Given the description of an element on the screen output the (x, y) to click on. 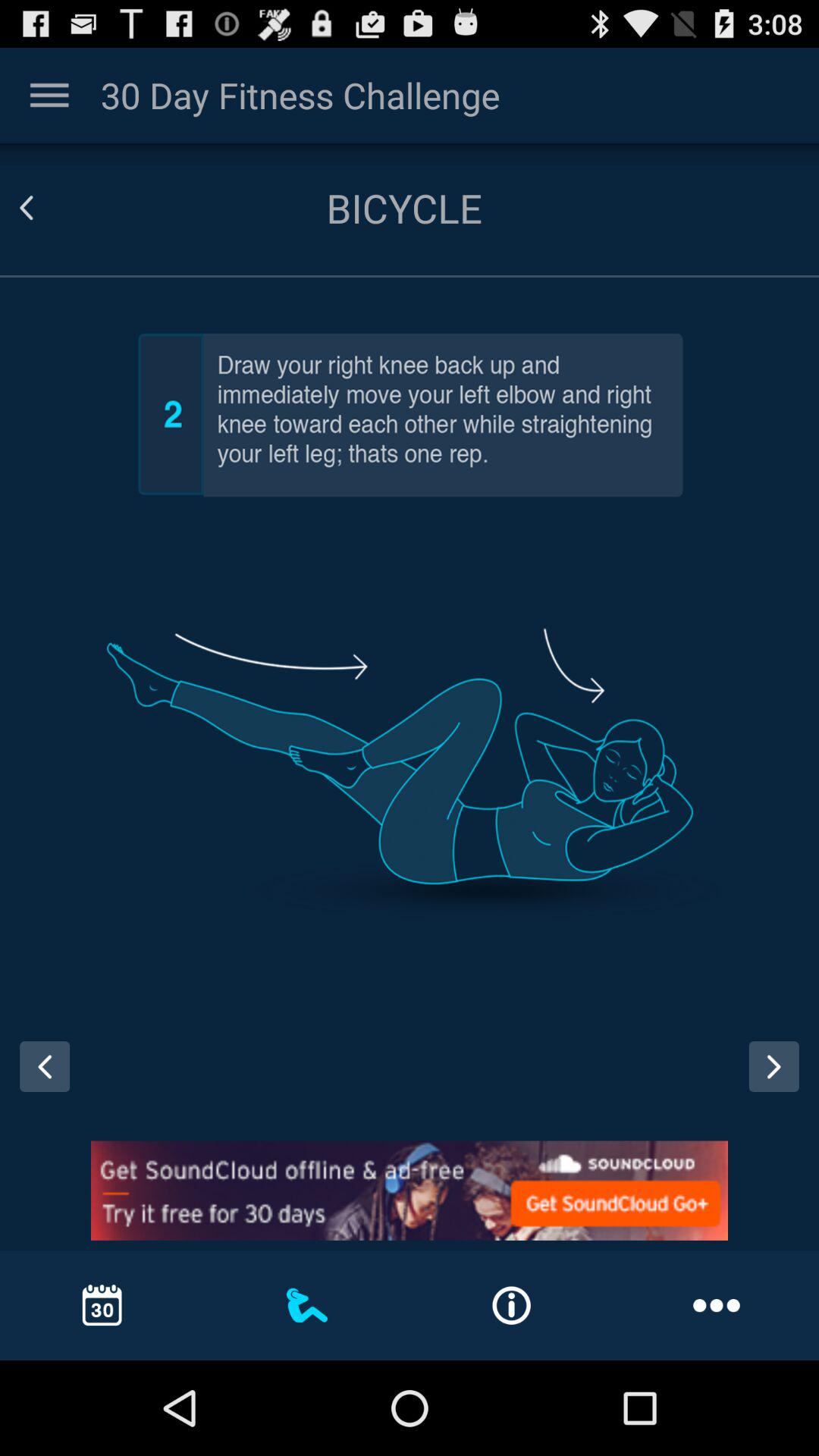
go to next (779, 1081)
